Given the description of an element on the screen output the (x, y) to click on. 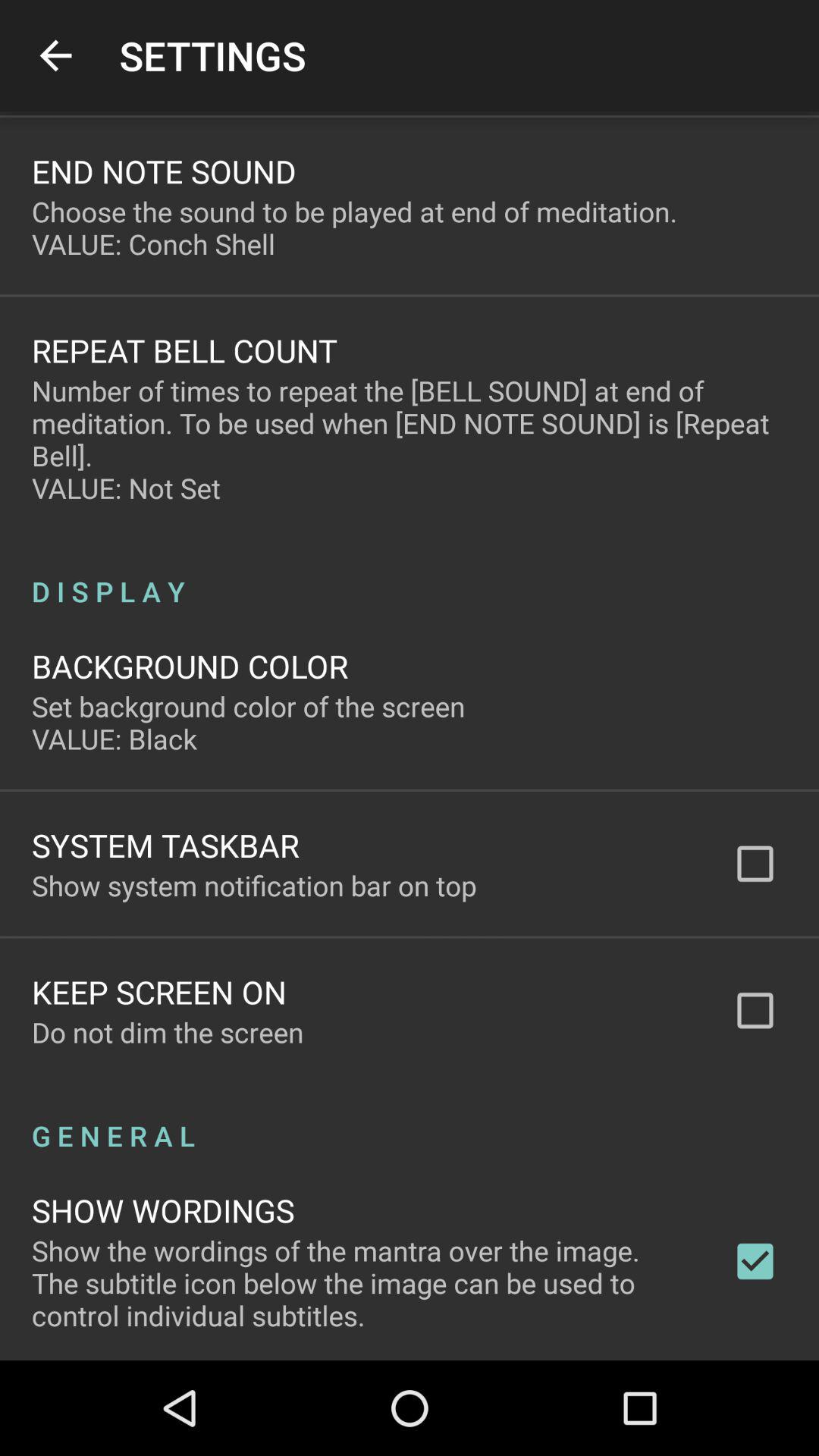
swipe to show system notification (253, 885)
